Given the description of an element on the screen output the (x, y) to click on. 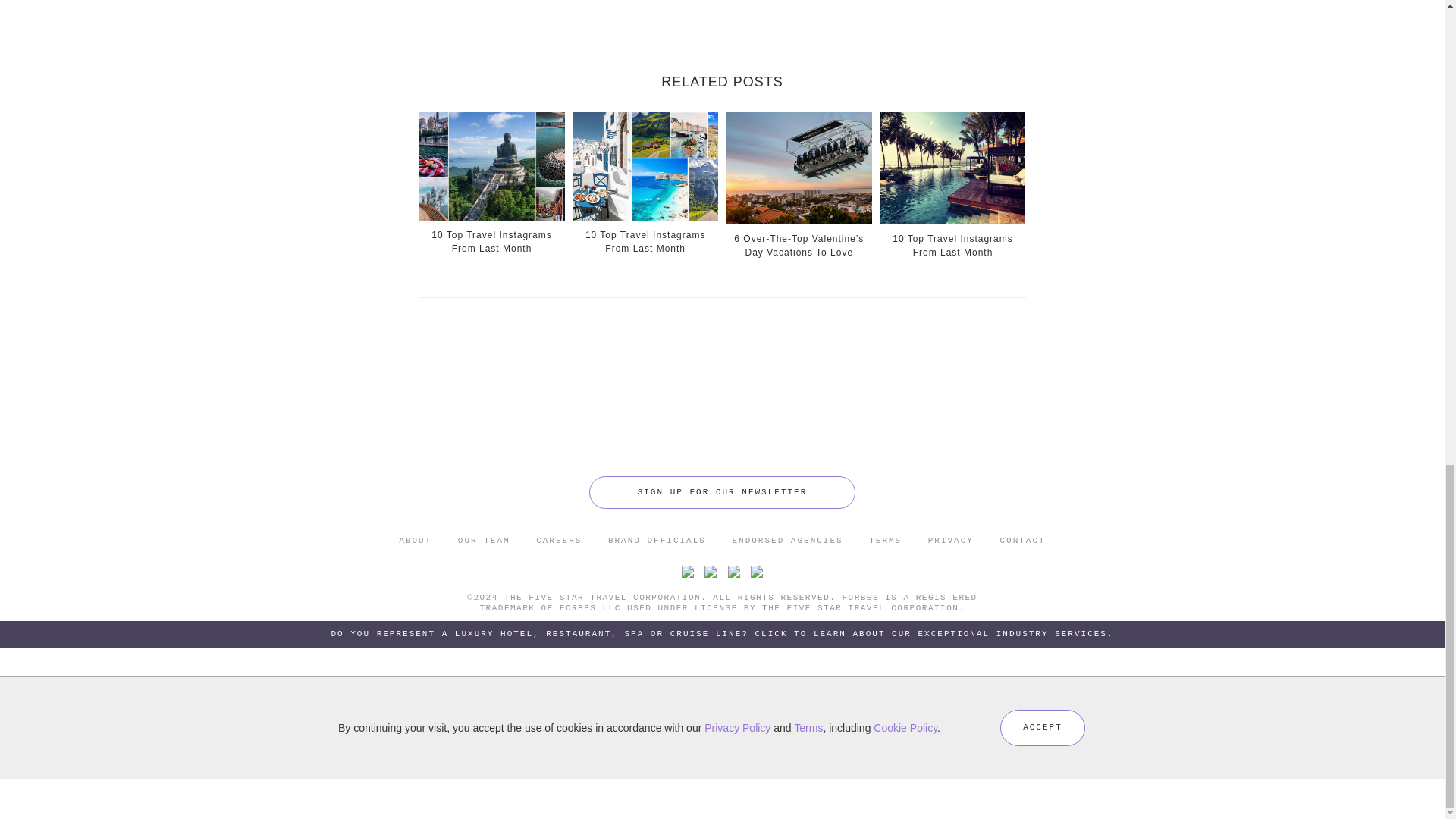
Permanent Link to10 Top Travel Instagrams From Last Month (644, 182)
Permanent Link to10 Top Travel Instagrams From Last Month (952, 184)
Permanent Link to10 Top Travel Instagrams From Last Month (491, 182)
